Given the description of an element on the screen output the (x, y) to click on. 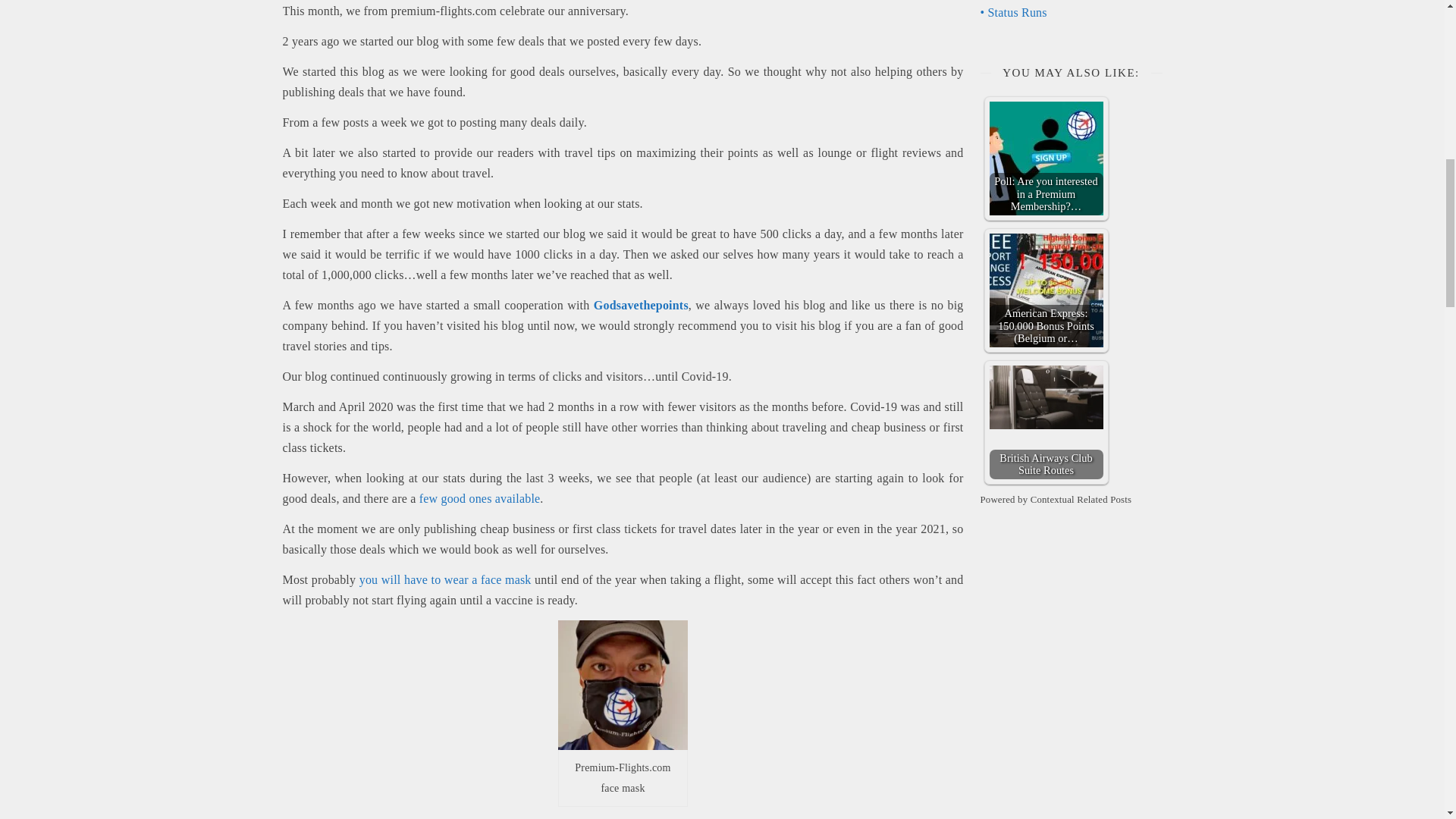
Godsavethepoints (641, 305)
British Airways Club Suite Routes (1045, 397)
you will have to wear a face mask (445, 579)
few good ones available (479, 498)
